Given the description of an element on the screen output the (x, y) to click on. 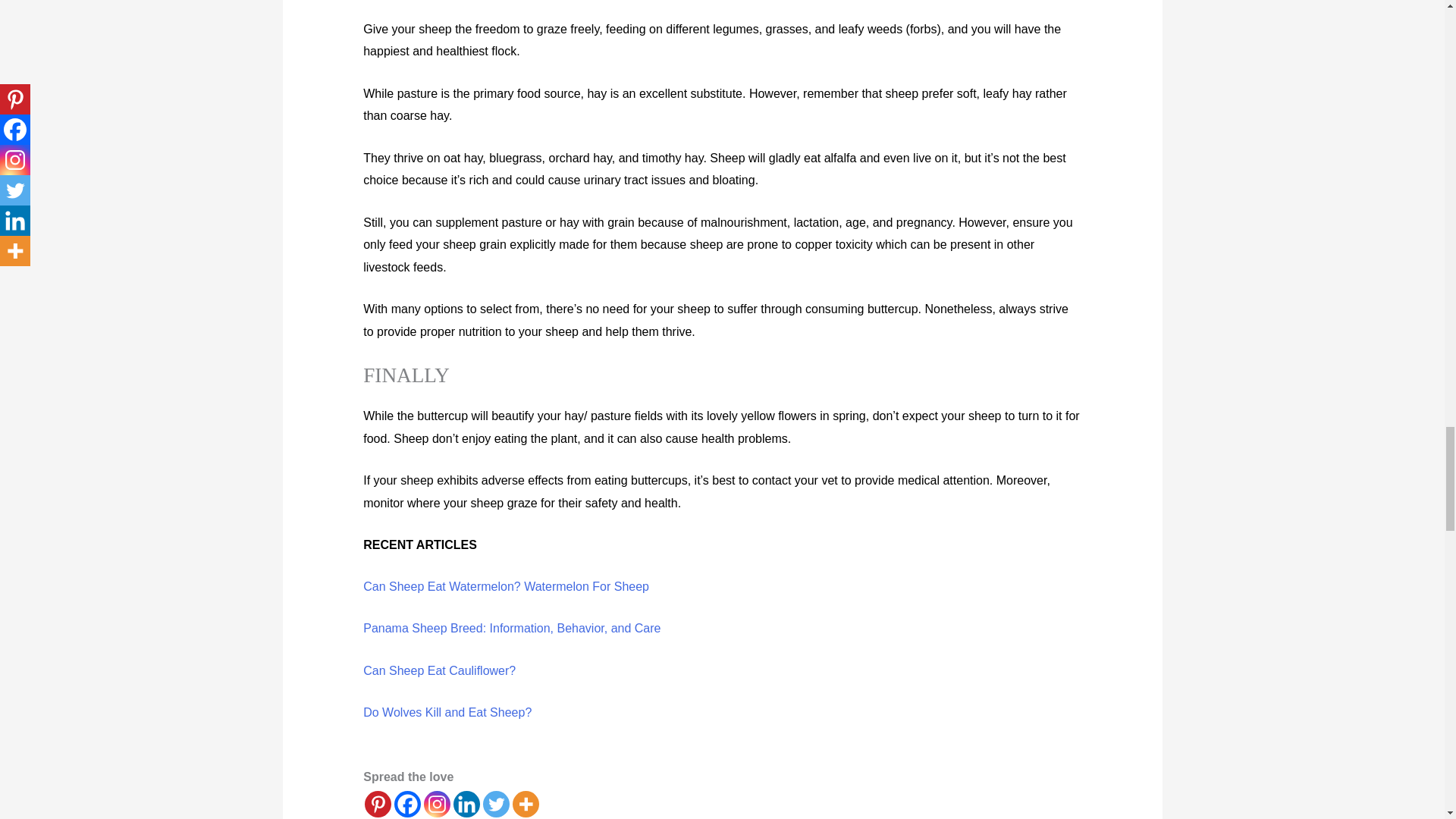
Panama Sheep Breed: Information, Behavior, and Care (511, 627)
Twitter (496, 804)
Pinterest (378, 804)
Facebook (407, 804)
More (525, 804)
Can Sheep Eat Watermelon? Watermelon For Sheep (505, 585)
Linkedin (466, 804)
Can Sheep Eat Cauliflower? (438, 670)
Instagram (436, 804)
